Given the description of an element on the screen output the (x, y) to click on. 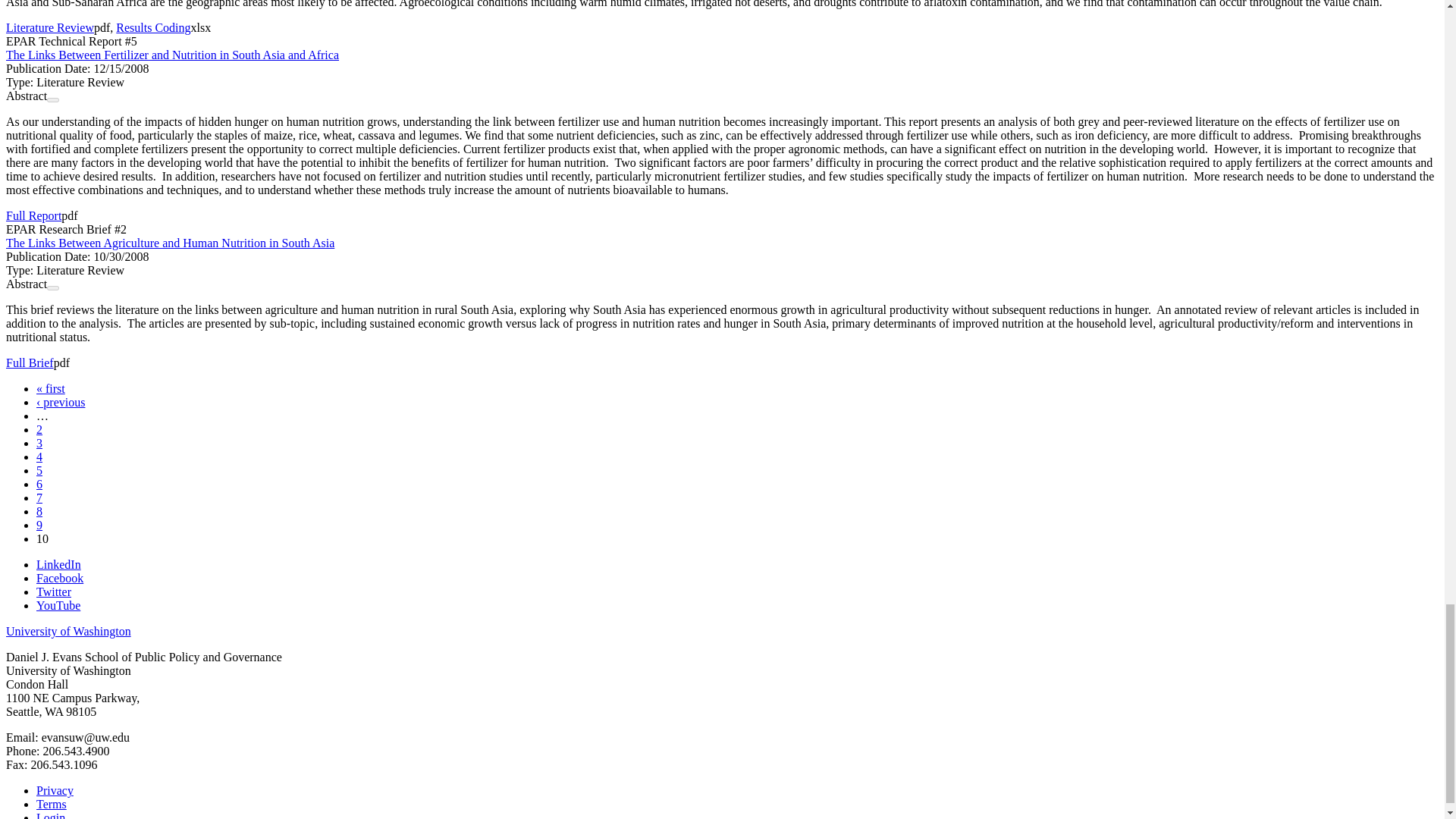
Go to page 2 (39, 429)
Go to first page (50, 388)
Go to previous page (60, 401)
